Given the description of an element on the screen output the (x, y) to click on. 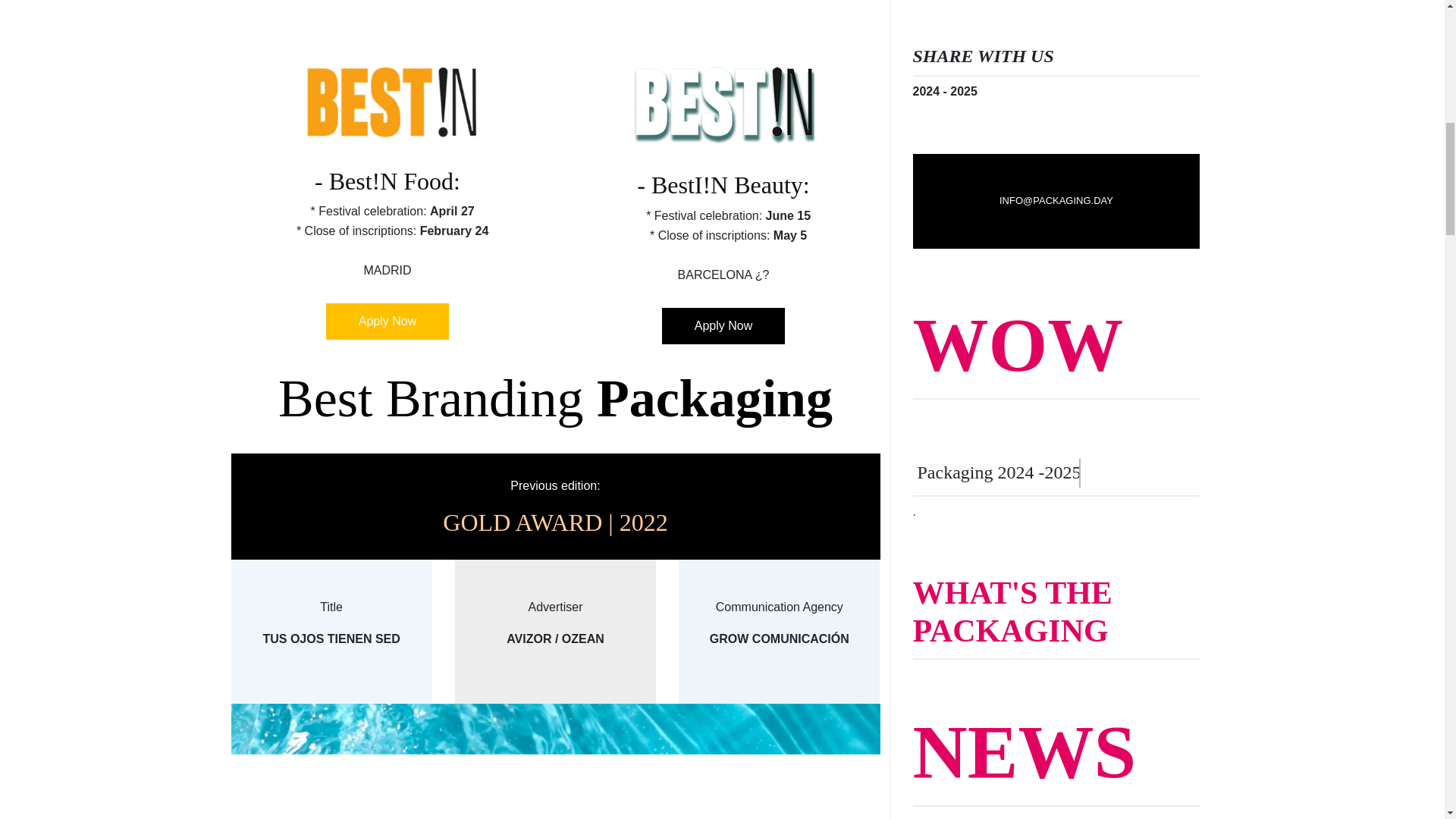
bestinfood (388, 102)
bestinbeauty (722, 104)
goldaward (554, 761)
